Given the description of an element on the screen output the (x, y) to click on. 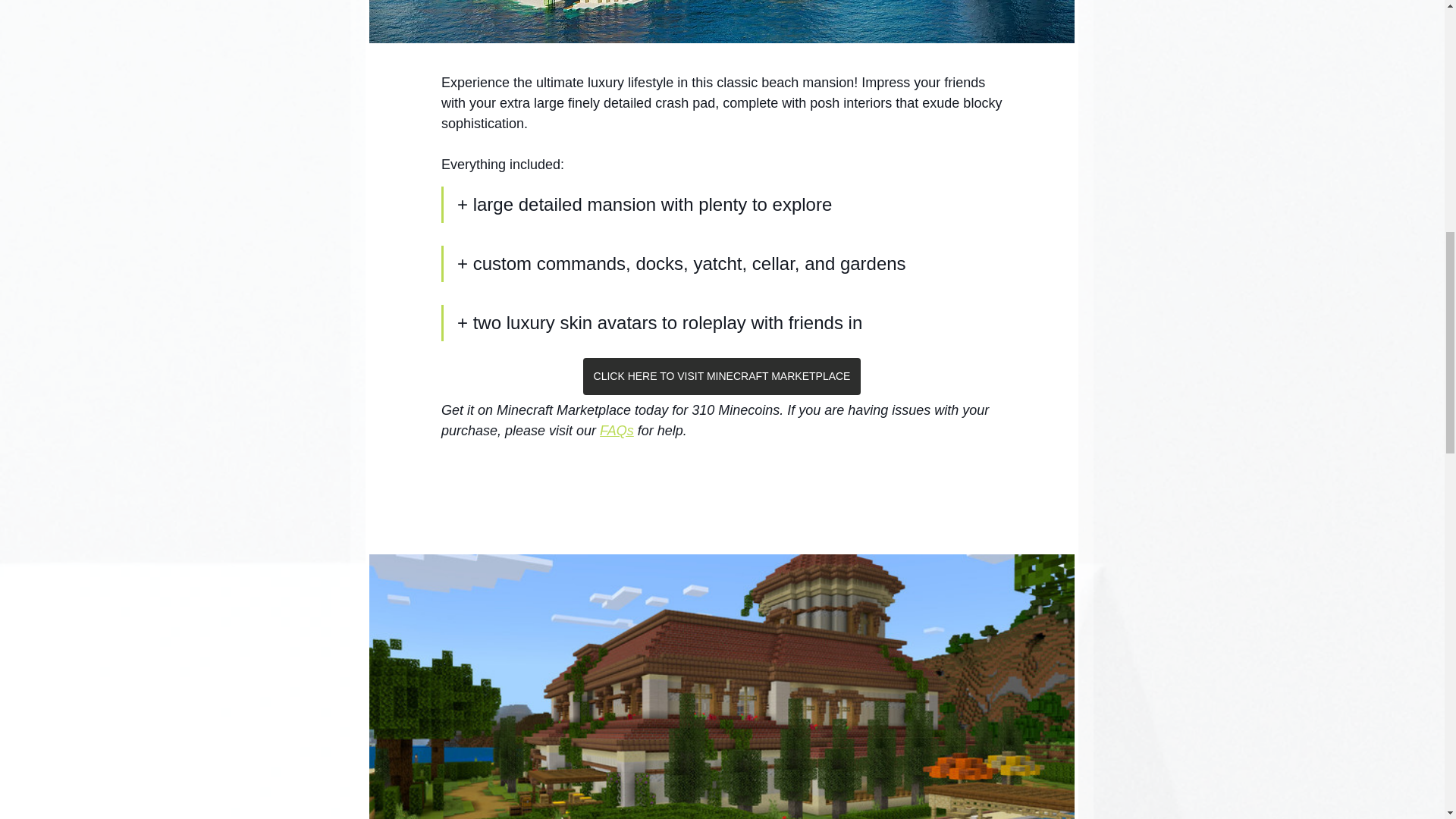
CLICK HERE TO VISIT MINECRAFT MARKETPLACE (721, 375)
FAQs (616, 430)
